Given the description of an element on the screen output the (x, y) to click on. 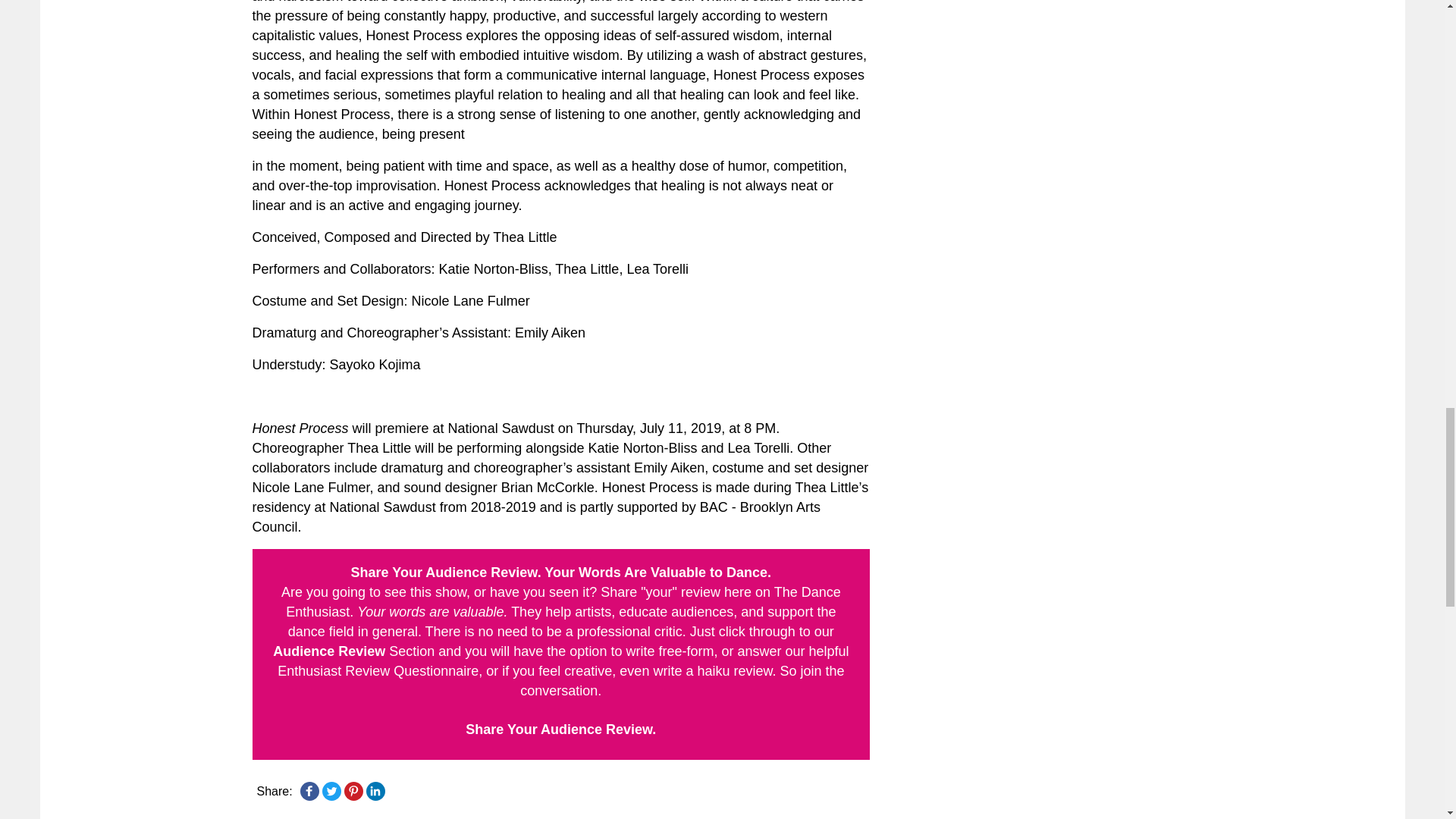
LinkedIn (375, 790)
Facebook (309, 790)
Twitter (331, 790)
Pinterest (353, 790)
